Given the description of an element on the screen output the (x, y) to click on. 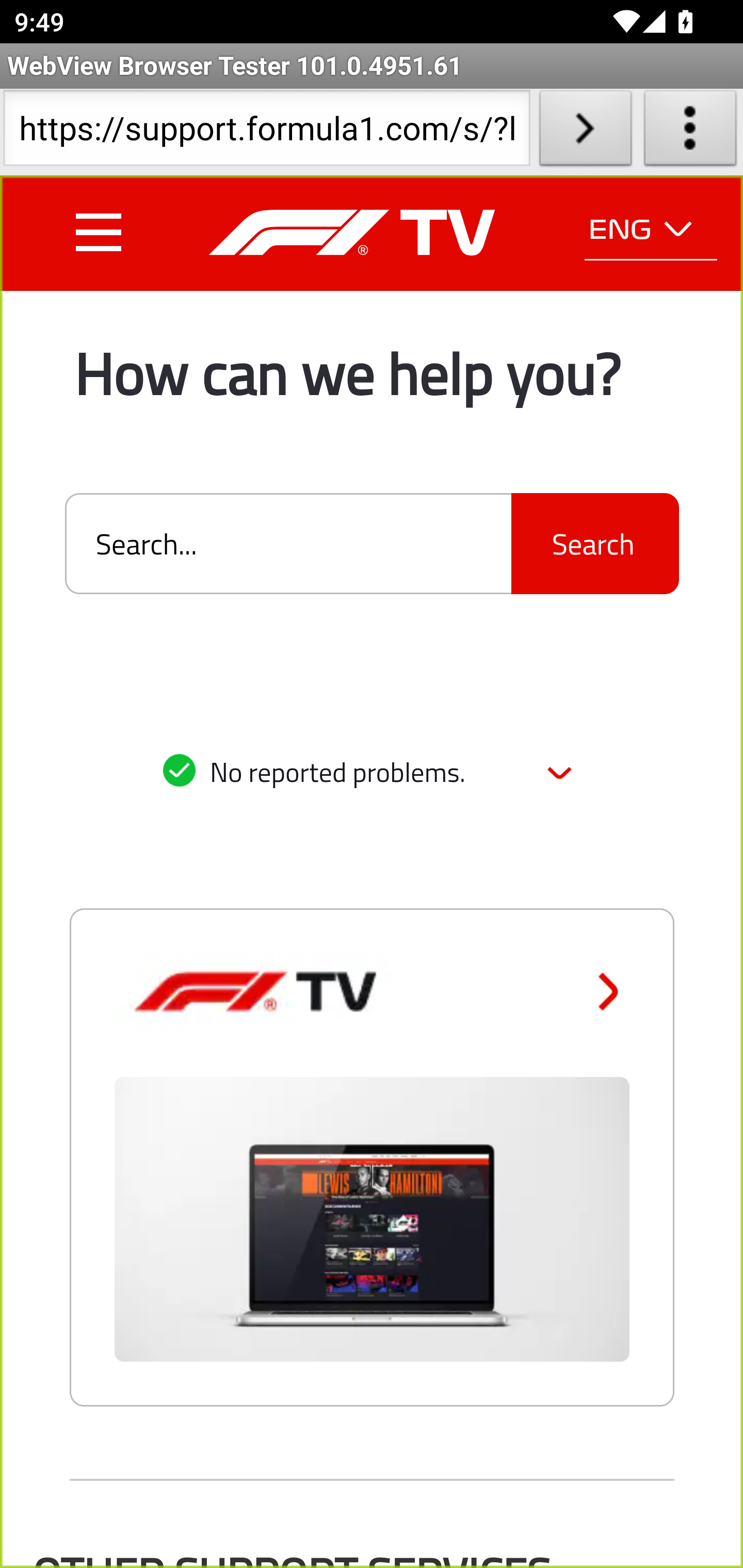
https://support.formula1.com/s/?language=en_US (266, 132)
Load URL (585, 132)
About WebView (690, 132)
ENG (650, 229)
F1LogoMicroWhite (350, 231)
Search (594, 543)
No reported problems. (371, 773)
TV redArrow Laptop TV redArrow Laptop (371, 1193)
